Given the description of an element on the screen output the (x, y) to click on. 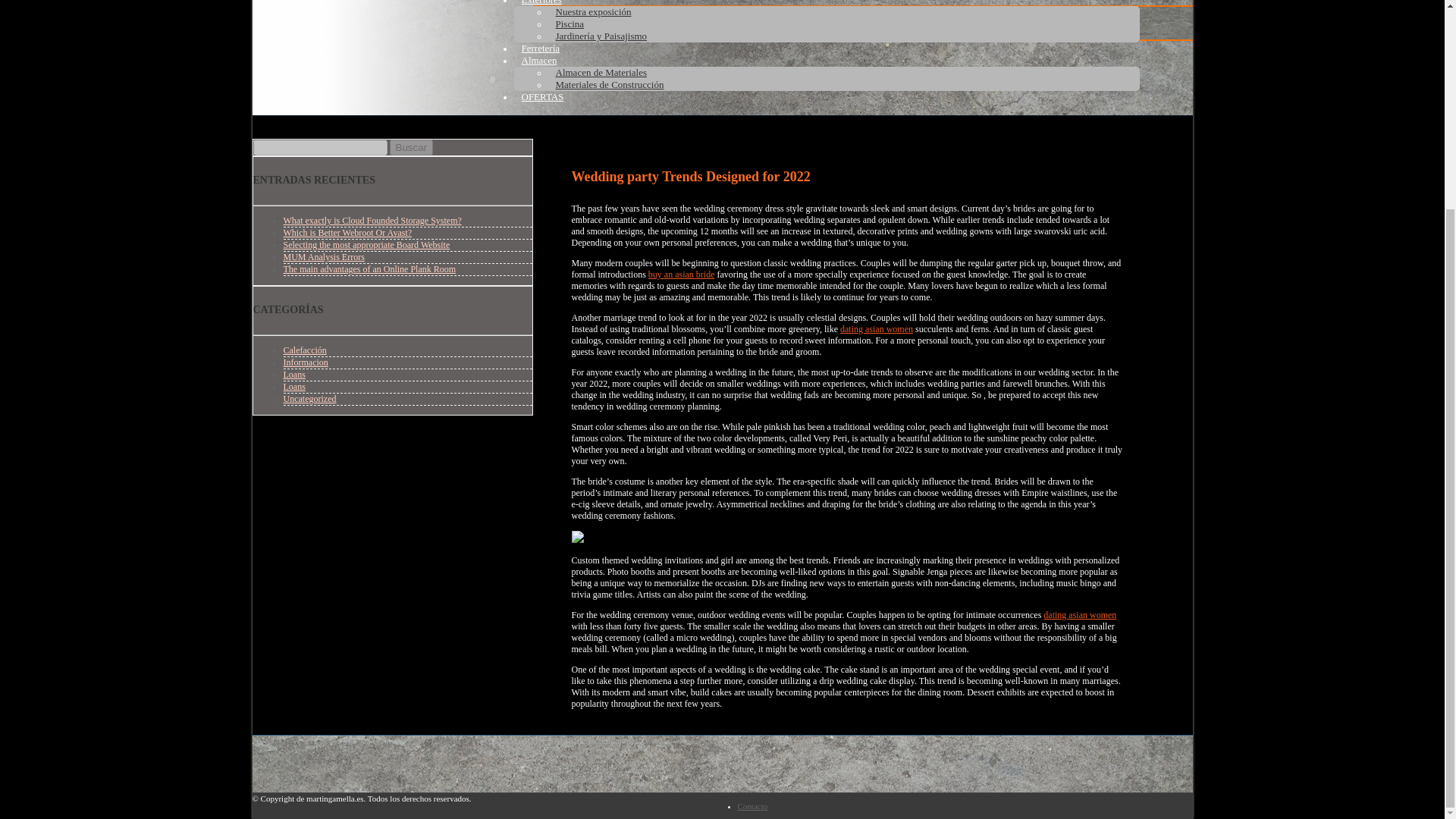
Informacion (306, 362)
Contacto (751, 805)
Uncategorized (309, 398)
Loans (294, 386)
Buscar (411, 147)
What exactly is Cloud Founded Storage System? (372, 220)
Which is Better Webroot Or Avast? (347, 232)
Almacen de Materiales (600, 72)
OFERTAS (542, 96)
Selecting the most appropriate Board Website (366, 244)
